Given the description of an element on the screen output the (x, y) to click on. 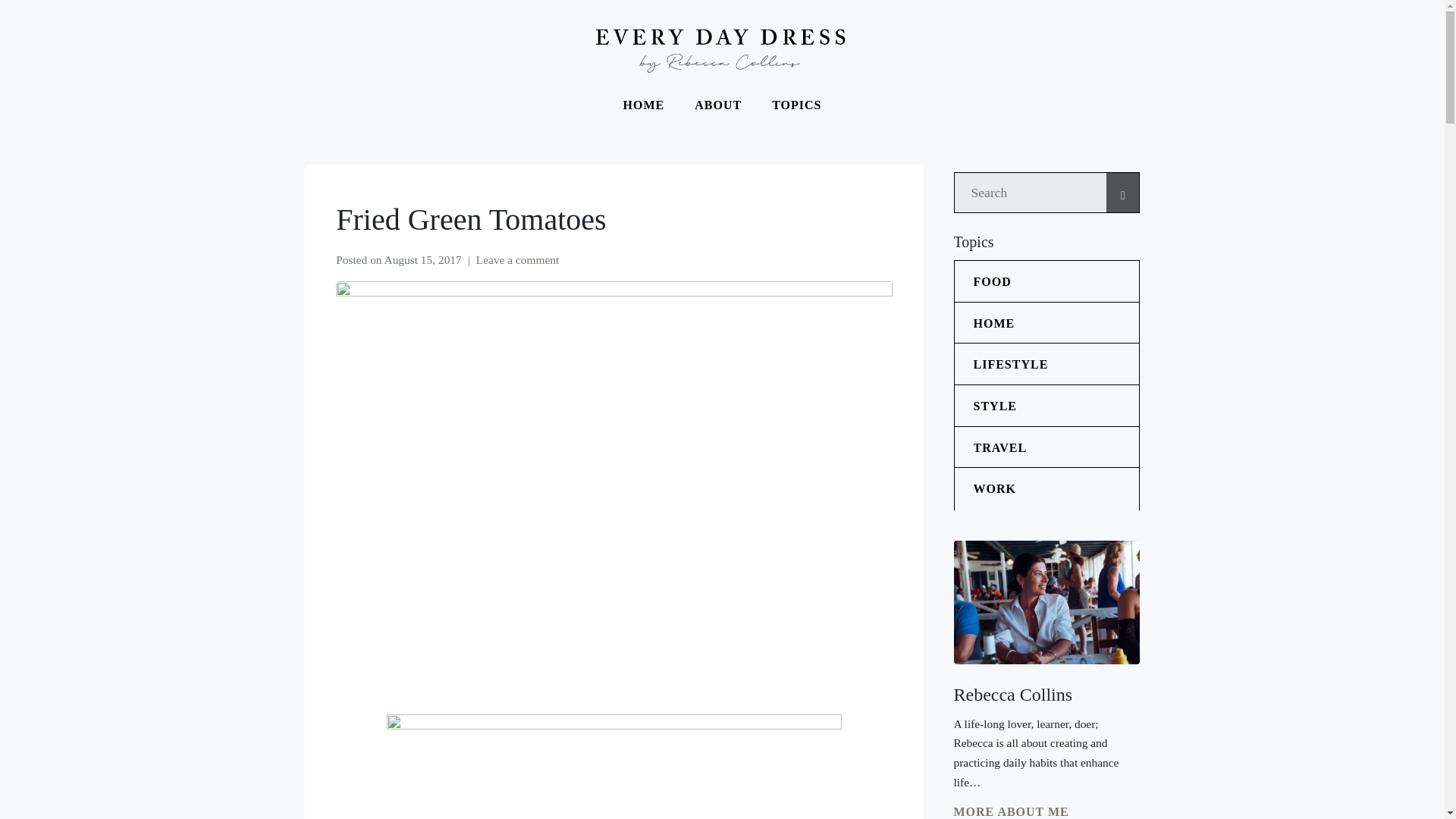
FOOD (1056, 281)
Leave a comment (517, 259)
TOPICS (796, 104)
ABOUT (718, 104)
HOME (1056, 323)
LIFESTYLE (1056, 364)
HOME (643, 104)
